Given the description of an element on the screen output the (x, y) to click on. 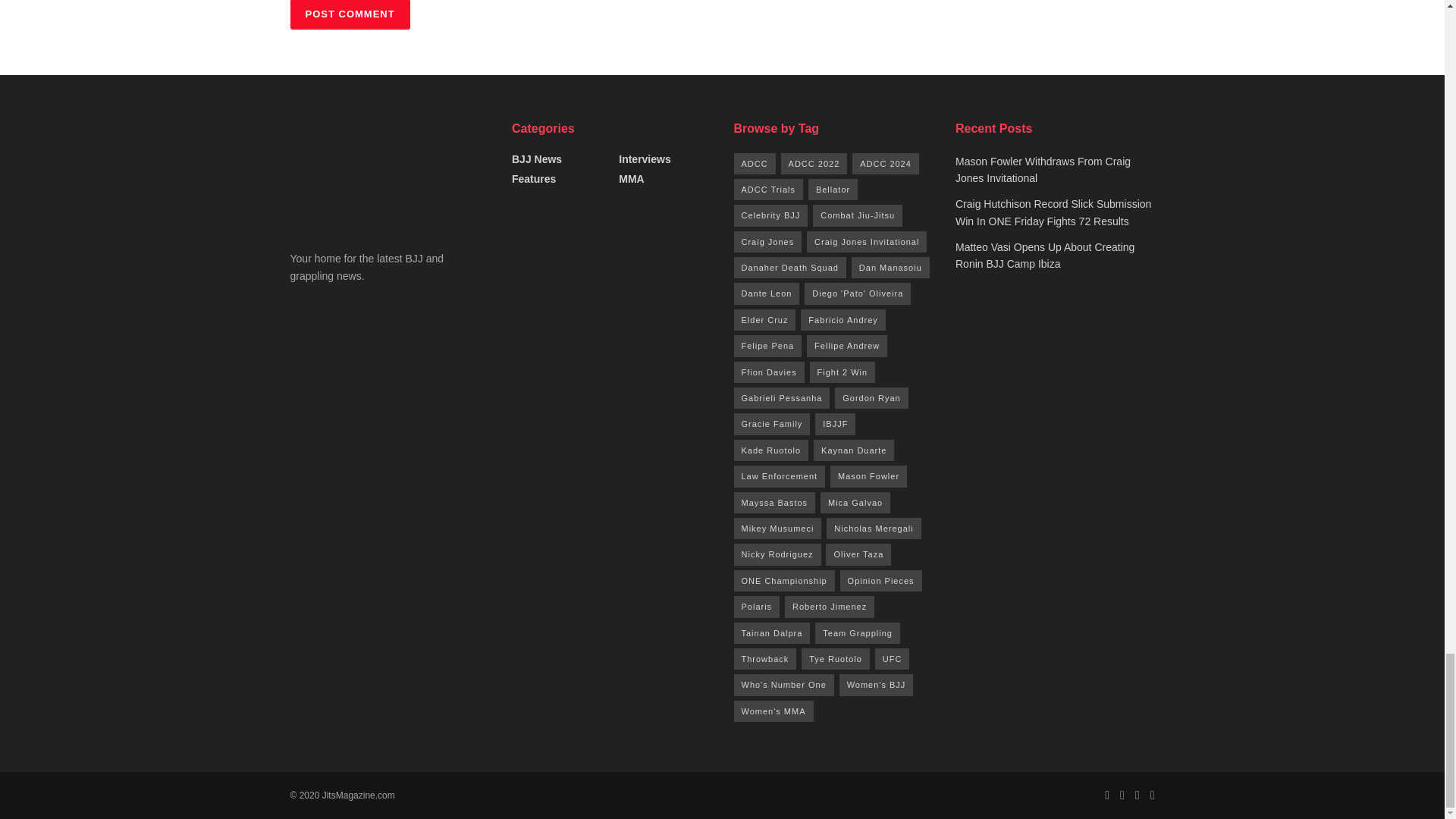
Post Comment (349, 14)
